Given the description of an element on the screen output the (x, y) to click on. 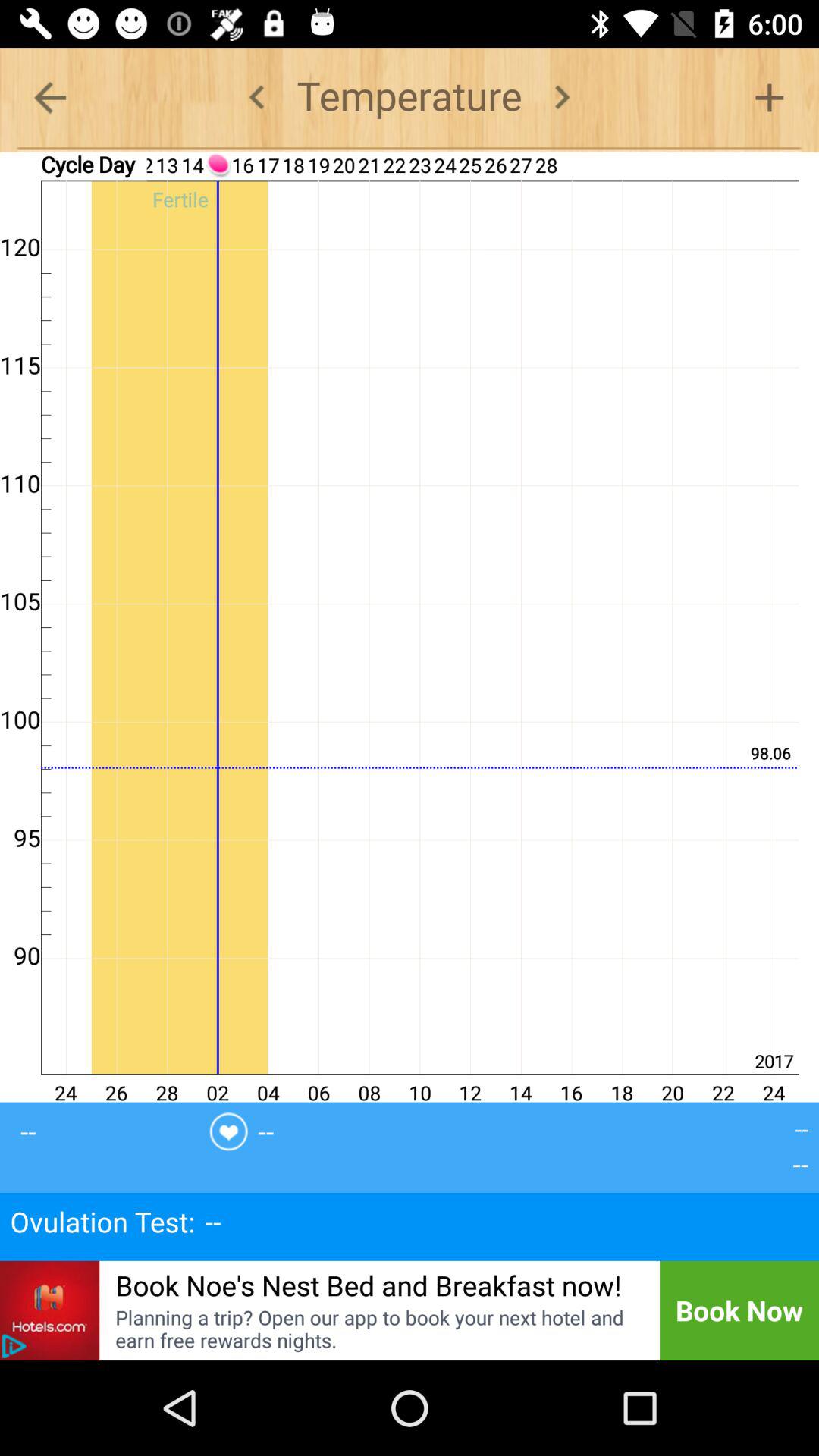
scroll to planning a trip item (377, 1329)
